Given the description of an element on the screen output the (x, y) to click on. 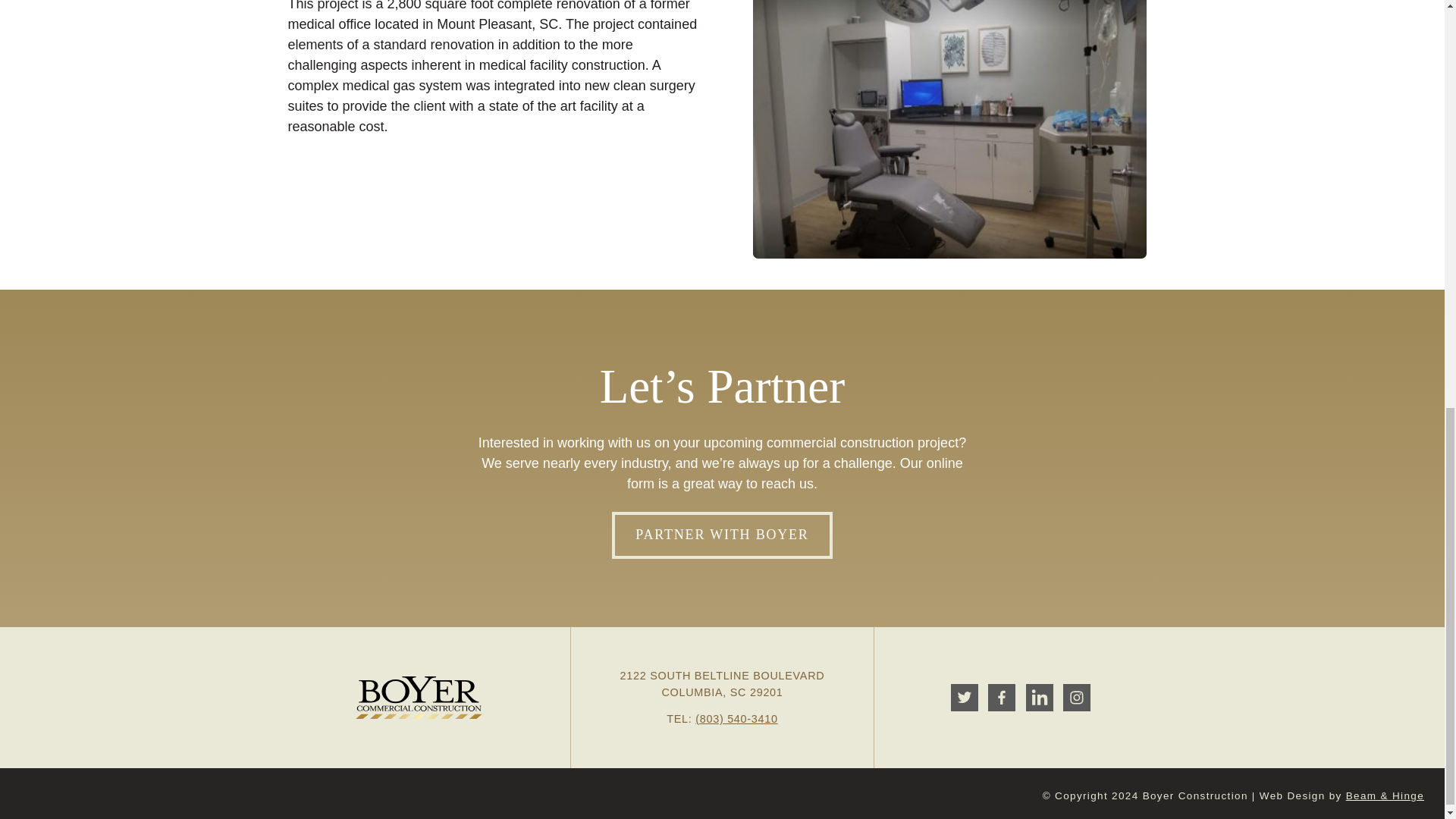
PARTNER WITH BOYER (721, 535)
instagram-icon (1076, 697)
instagram-icon (1076, 697)
Boyer Construction (419, 697)
